Given the description of an element on the screen output the (x, y) to click on. 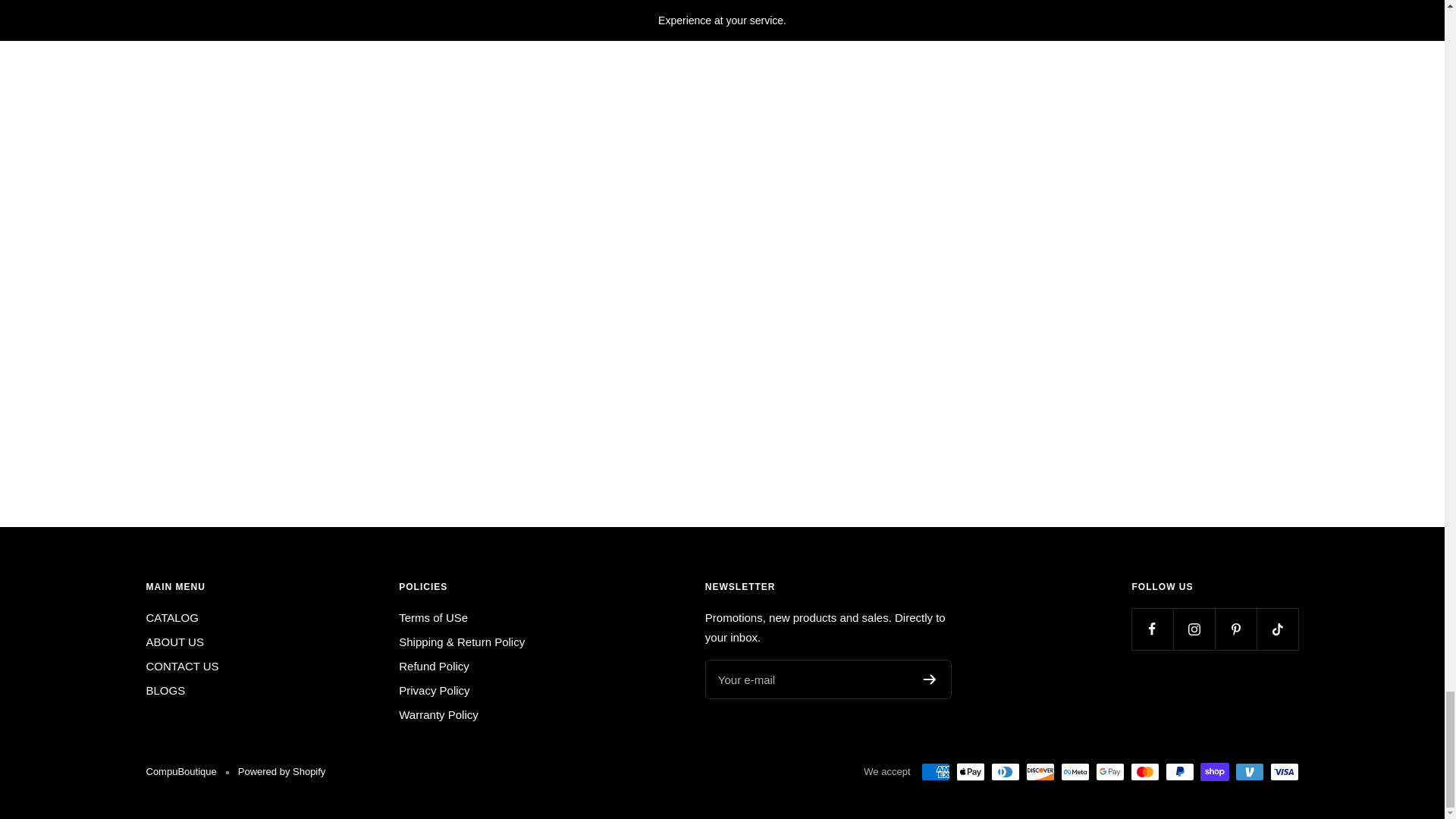
Register (929, 679)
